Given the description of an element on the screen output the (x, y) to click on. 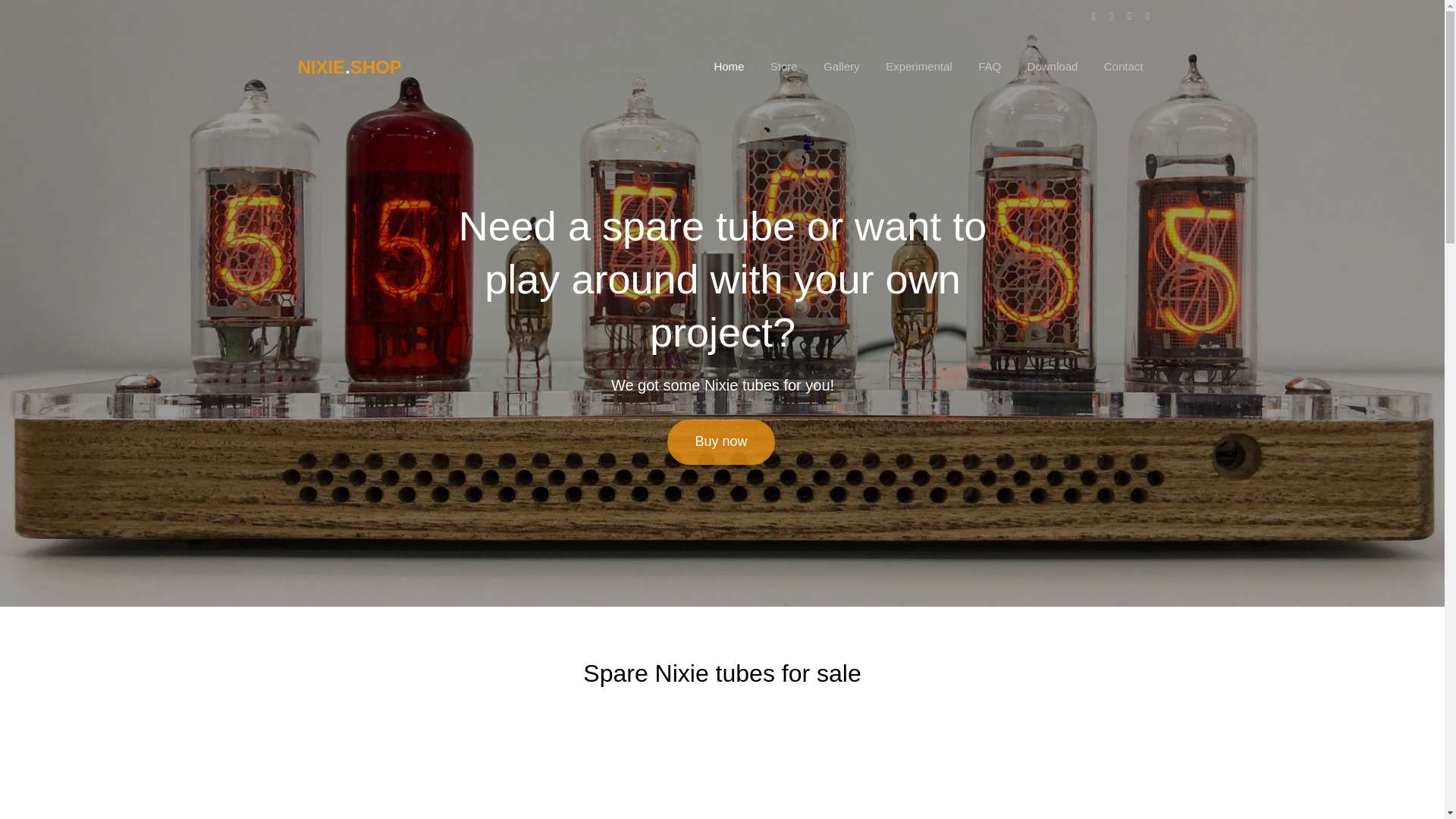
Home (728, 65)
Buy now (720, 442)
Contact (1123, 65)
Gallery (841, 65)
Experimental (919, 65)
Download (1052, 65)
NIXIE.SHOP (349, 67)
